Given the description of an element on the screen output the (x, y) to click on. 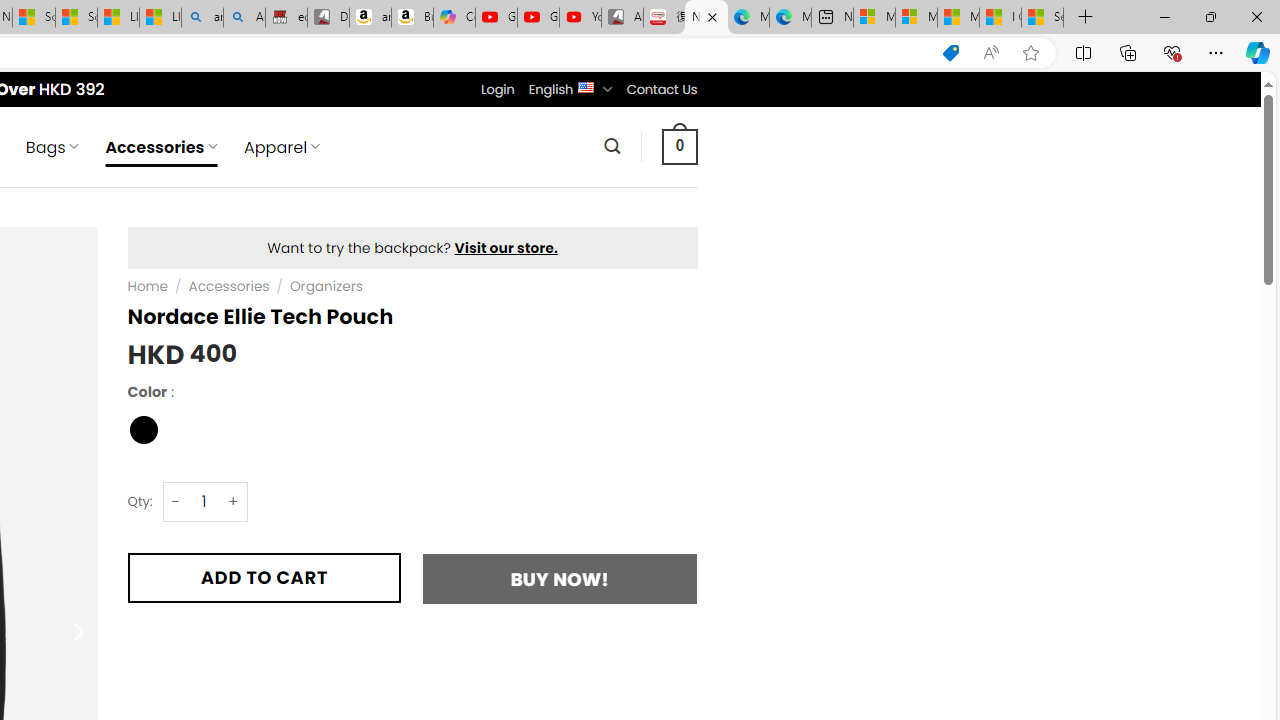
BUY NOW! (559, 578)
Nordace Ellie Tech Pouch (706, 17)
This site has coupons! Shopping in Microsoft Edge (950, 53)
Copilot (453, 17)
Accessories (229, 286)
 0  (679, 146)
